Given the description of an element on the screen output the (x, y) to click on. 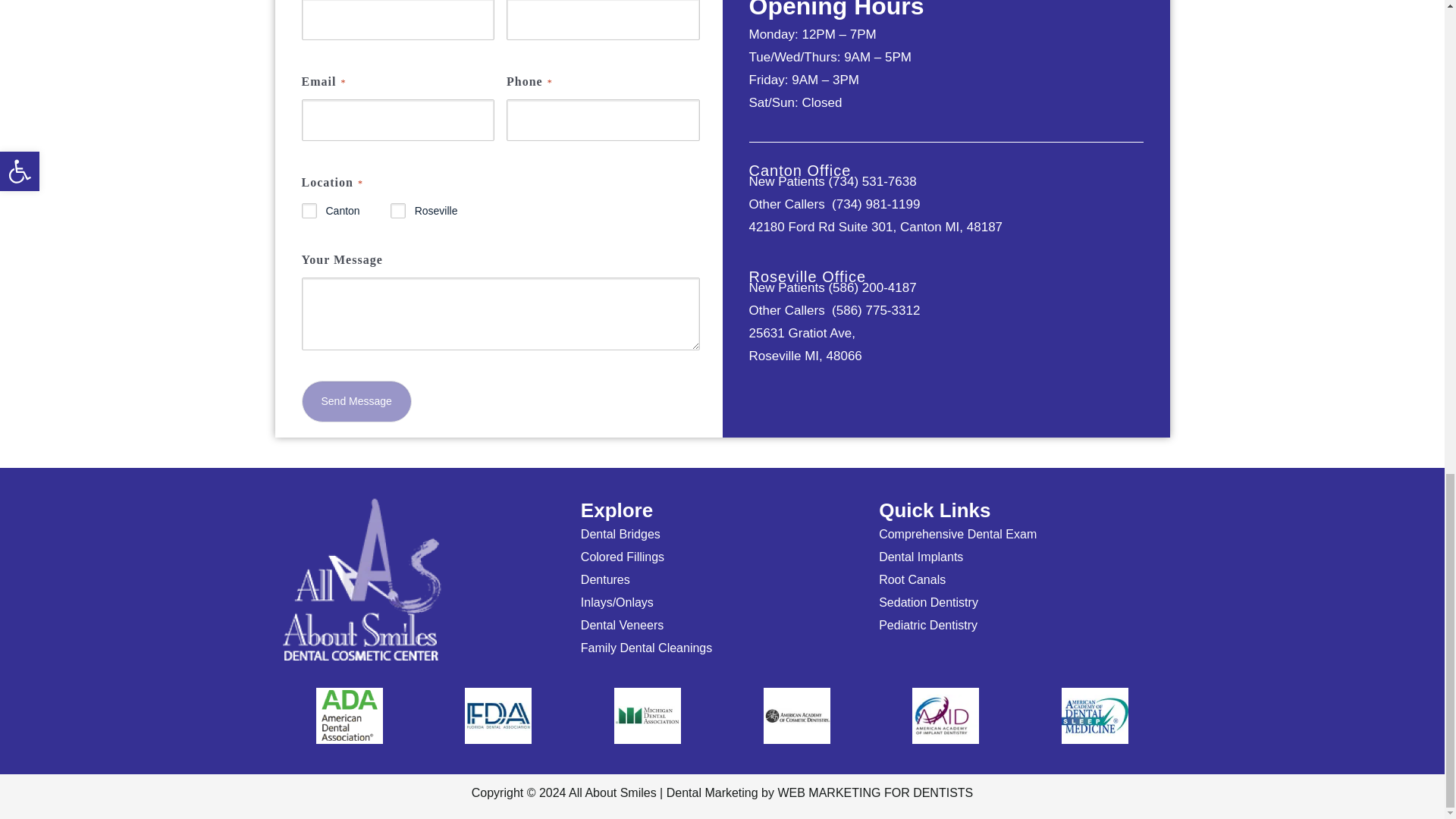
Roseville (398, 210)
Canton (309, 210)
Send Message (356, 401)
